Given the description of an element on the screen output the (x, y) to click on. 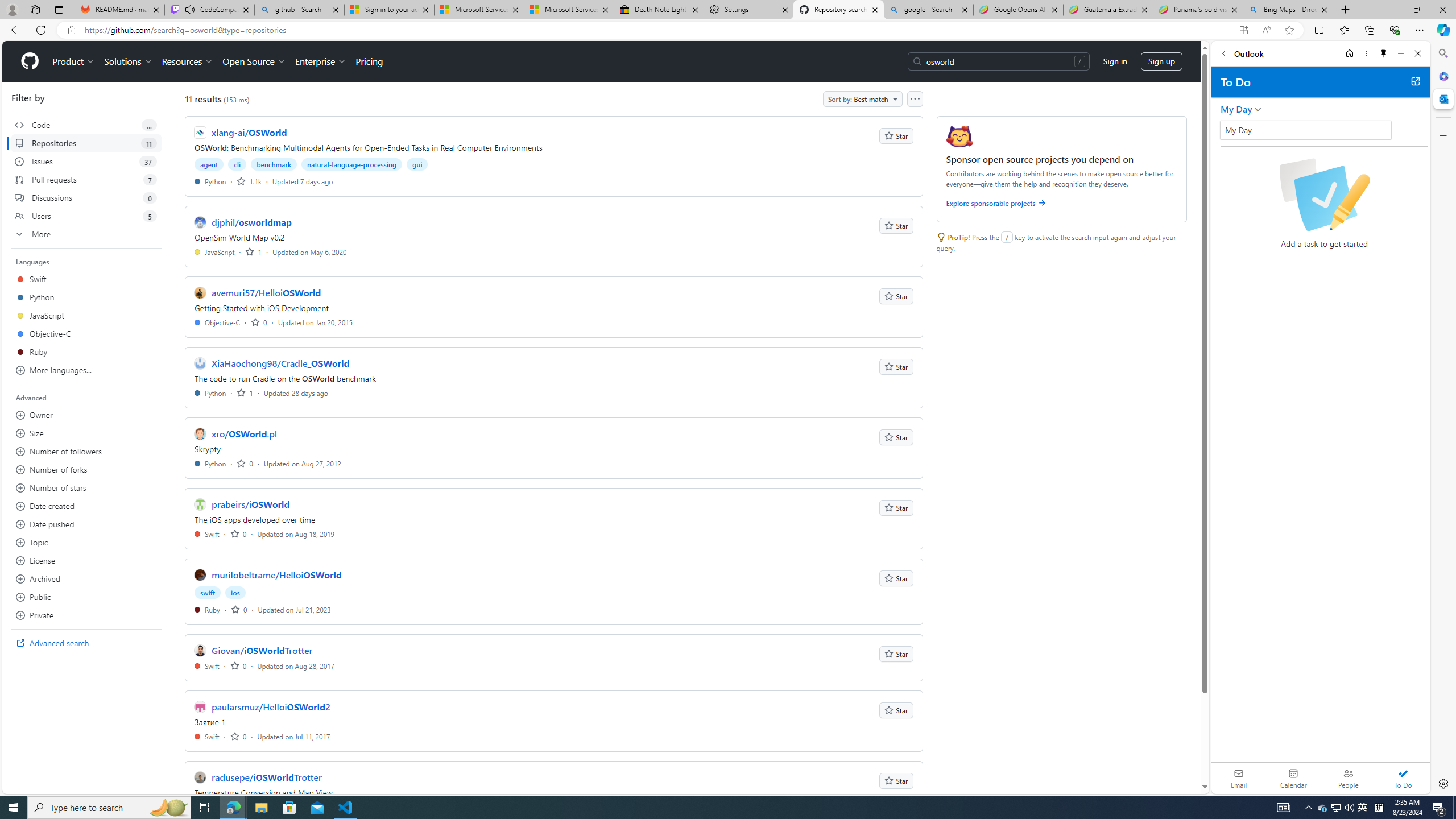
Updated on Aug 18, 2019 (295, 533)
XiaHaochong98/Cradle_OSWorld (280, 363)
Open column options (915, 98)
1 stars (244, 392)
Updated on Jul 11, 2017 (293, 736)
Add a task (1228, 133)
1 (244, 392)
